Given the description of an element on the screen output the (x, y) to click on. 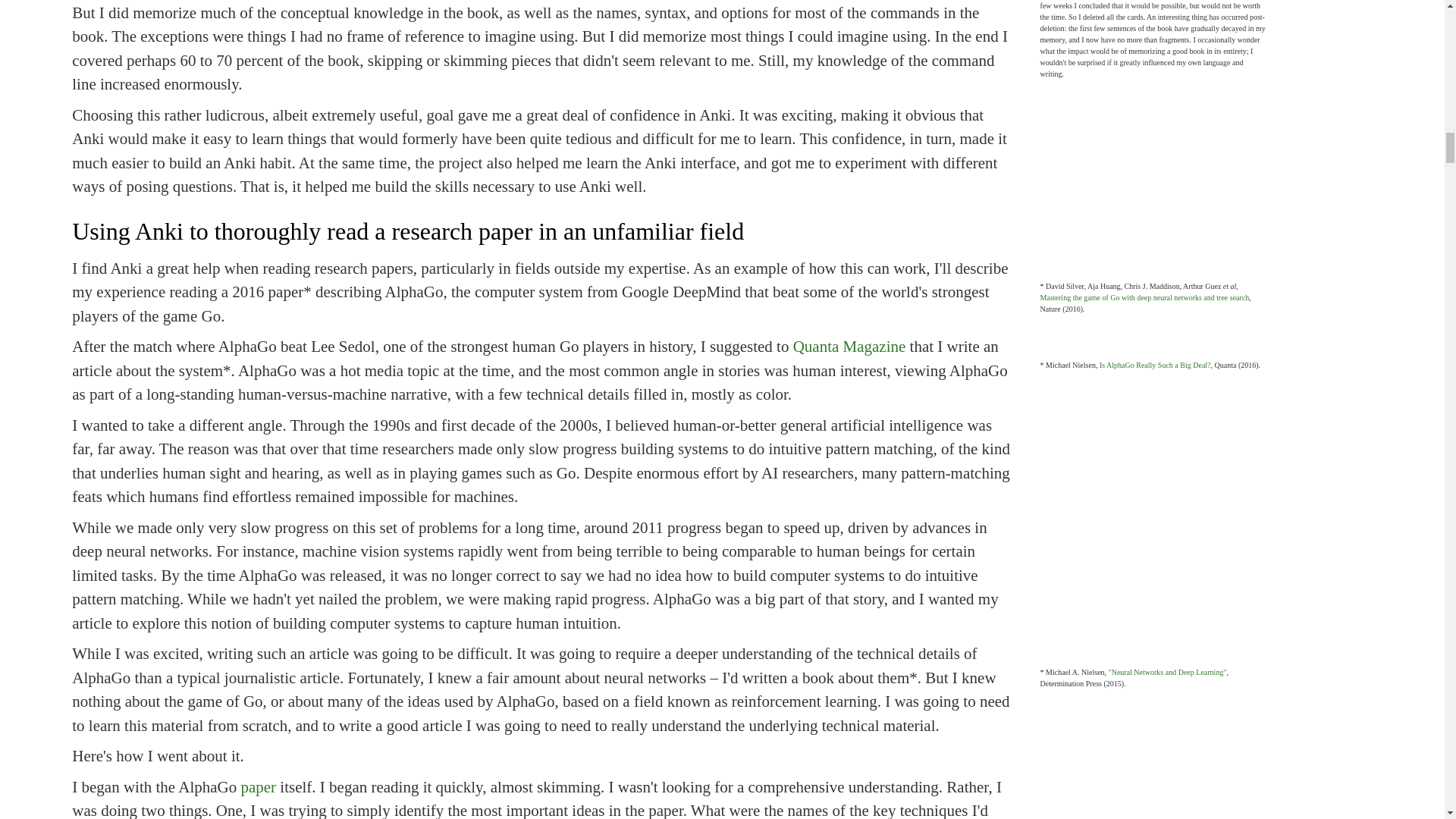
"Neural Networks and Deep Learning" (1167, 672)
Quanta Magazine (849, 346)
paper (258, 787)
Is AlphaGo Really Such a Big Deal? (1155, 365)
